Given the description of an element on the screen output the (x, y) to click on. 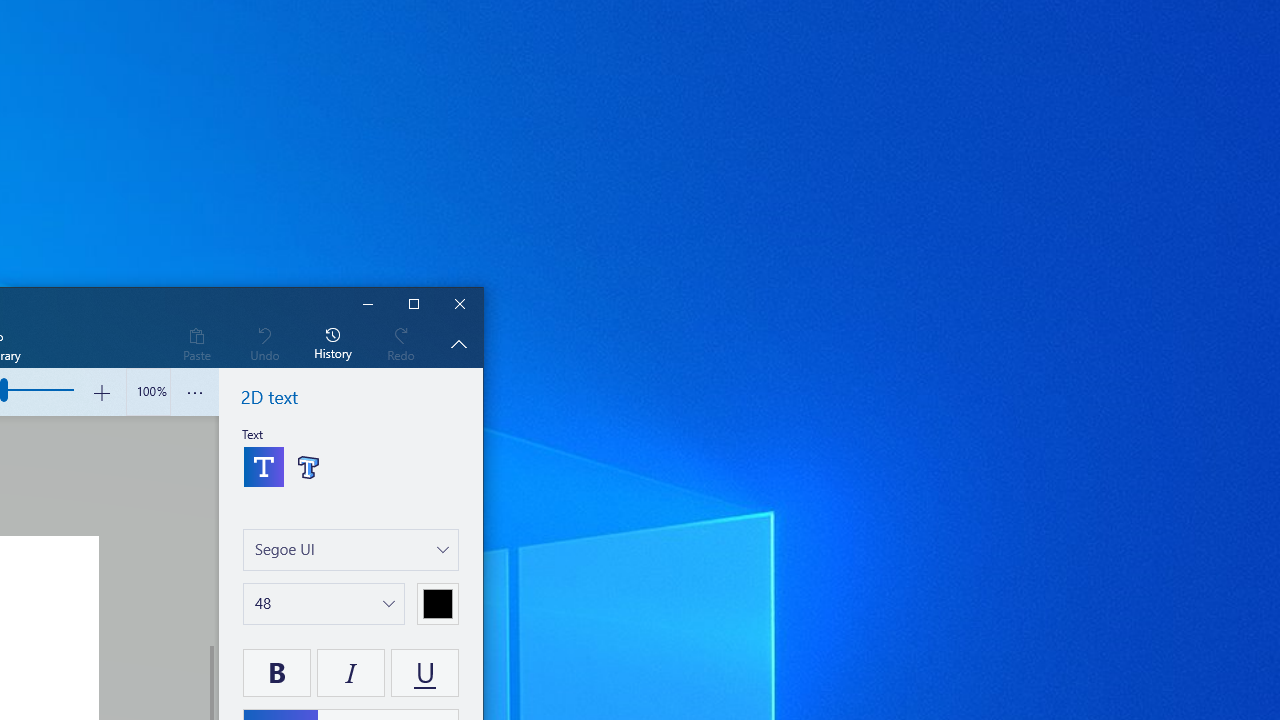
3D text (307, 466)
Hide description (458, 343)
Italicize your text (351, 672)
History (333, 343)
Paste (196, 343)
Underline your text (424, 672)
